Given the description of an element on the screen output the (x, y) to click on. 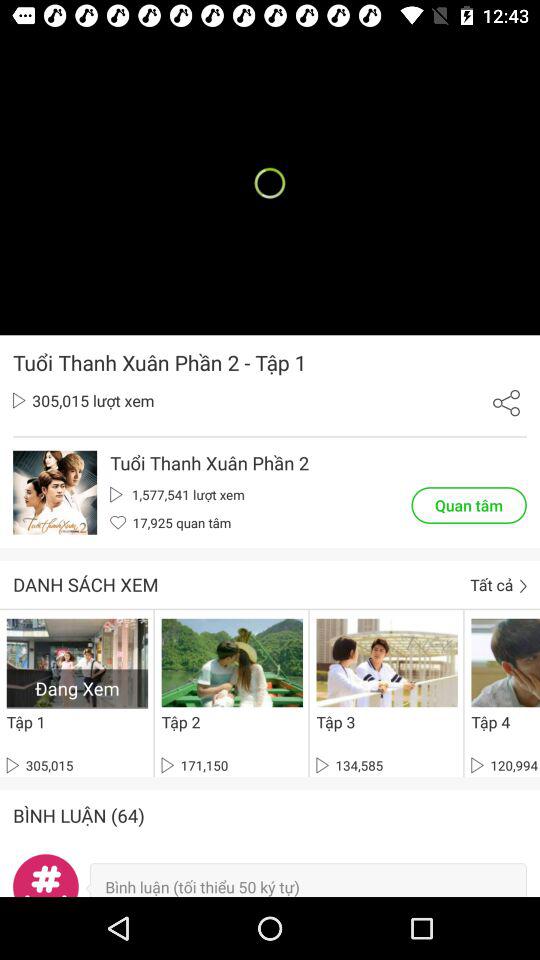
turn on 171,150 (194, 765)
